Given the description of an element on the screen output the (x, y) to click on. 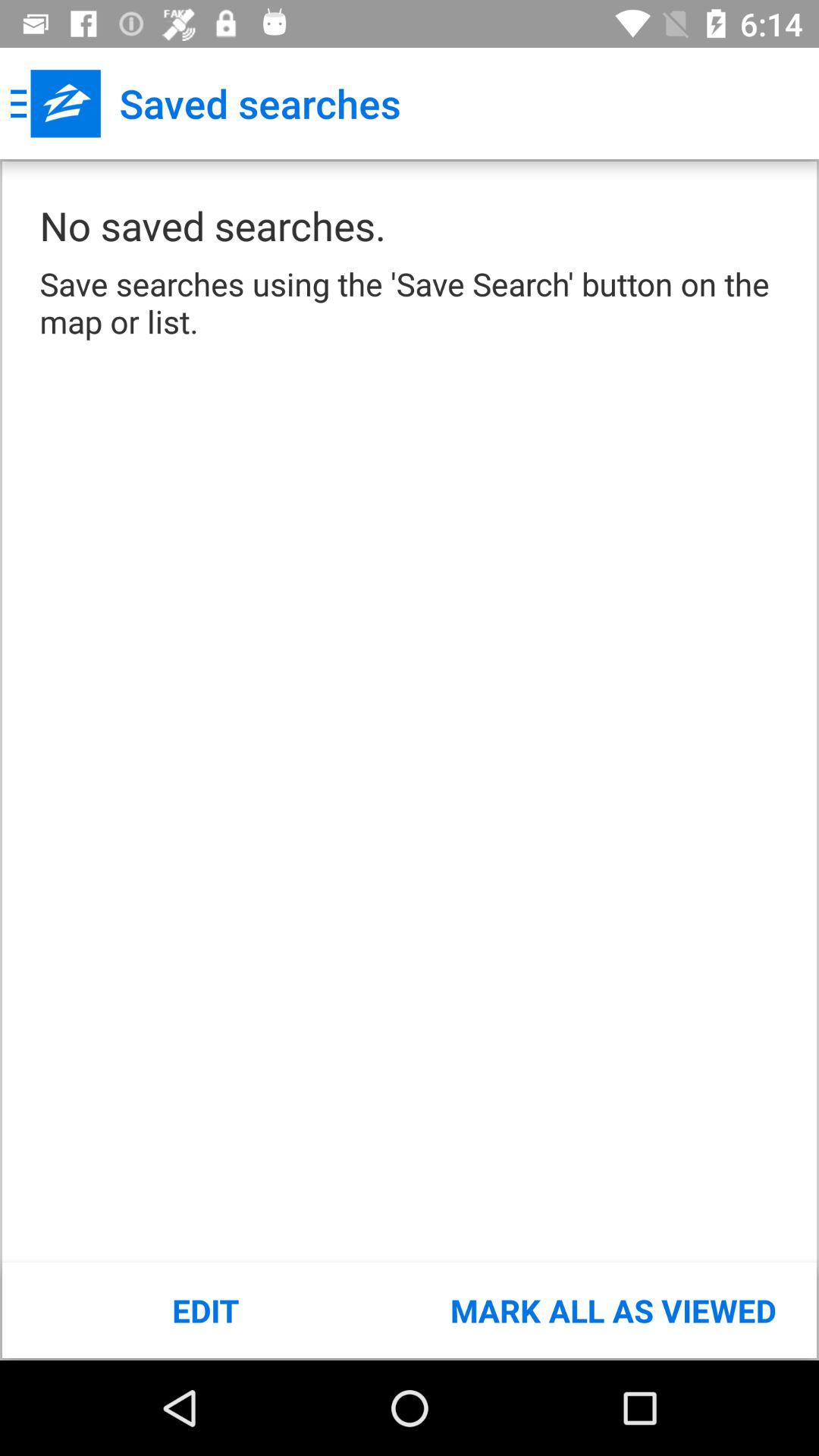
press mark all as at the bottom right corner (612, 1310)
